Given the description of an element on the screen output the (x, y) to click on. 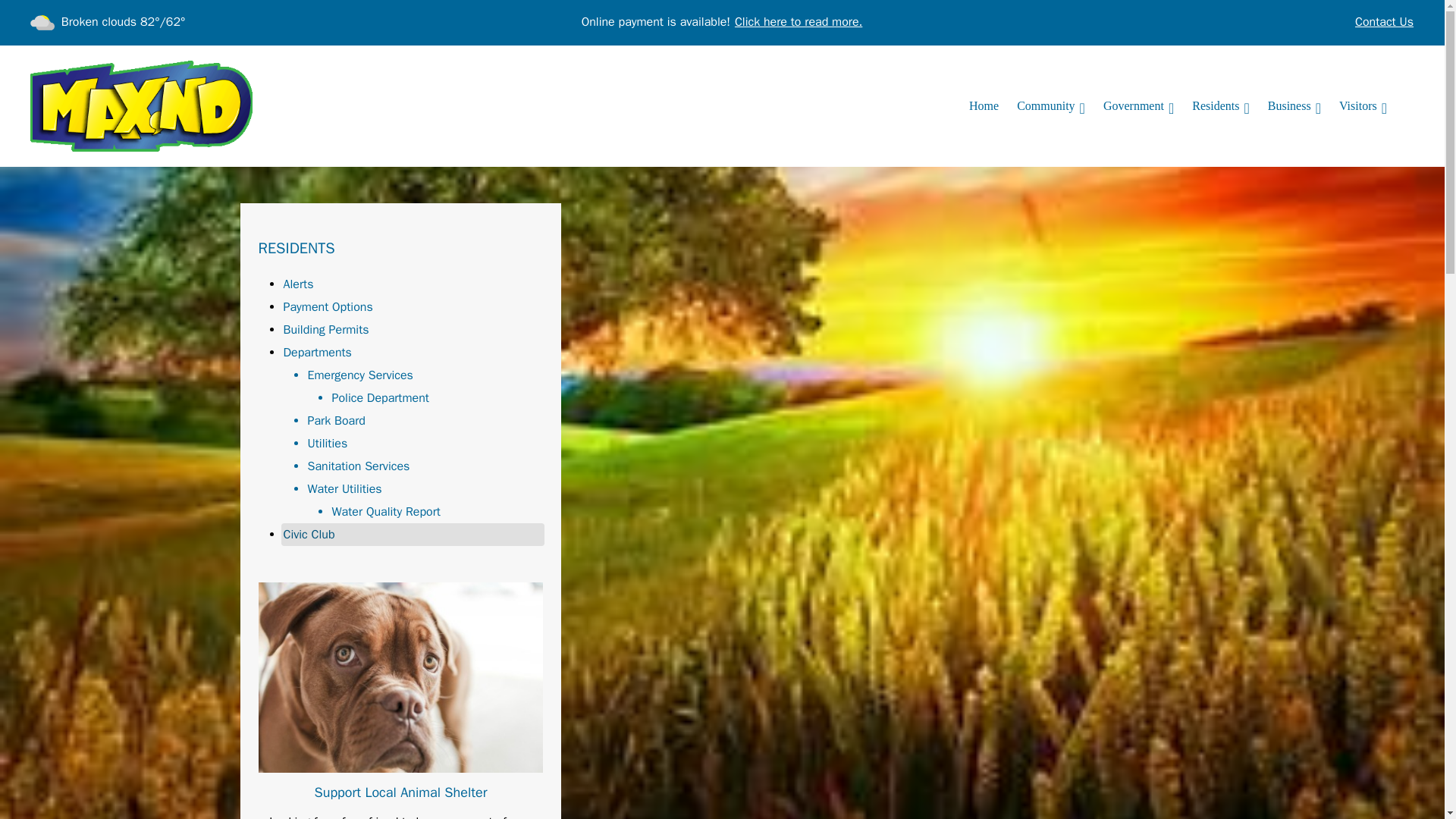
Home (983, 105)
Contact Us (1383, 22)
Residents (1220, 105)
Community (1050, 105)
contains current page link (1220, 105)
Government (1138, 105)
Click here to read more. (798, 22)
